Given the description of an element on the screen output the (x, y) to click on. 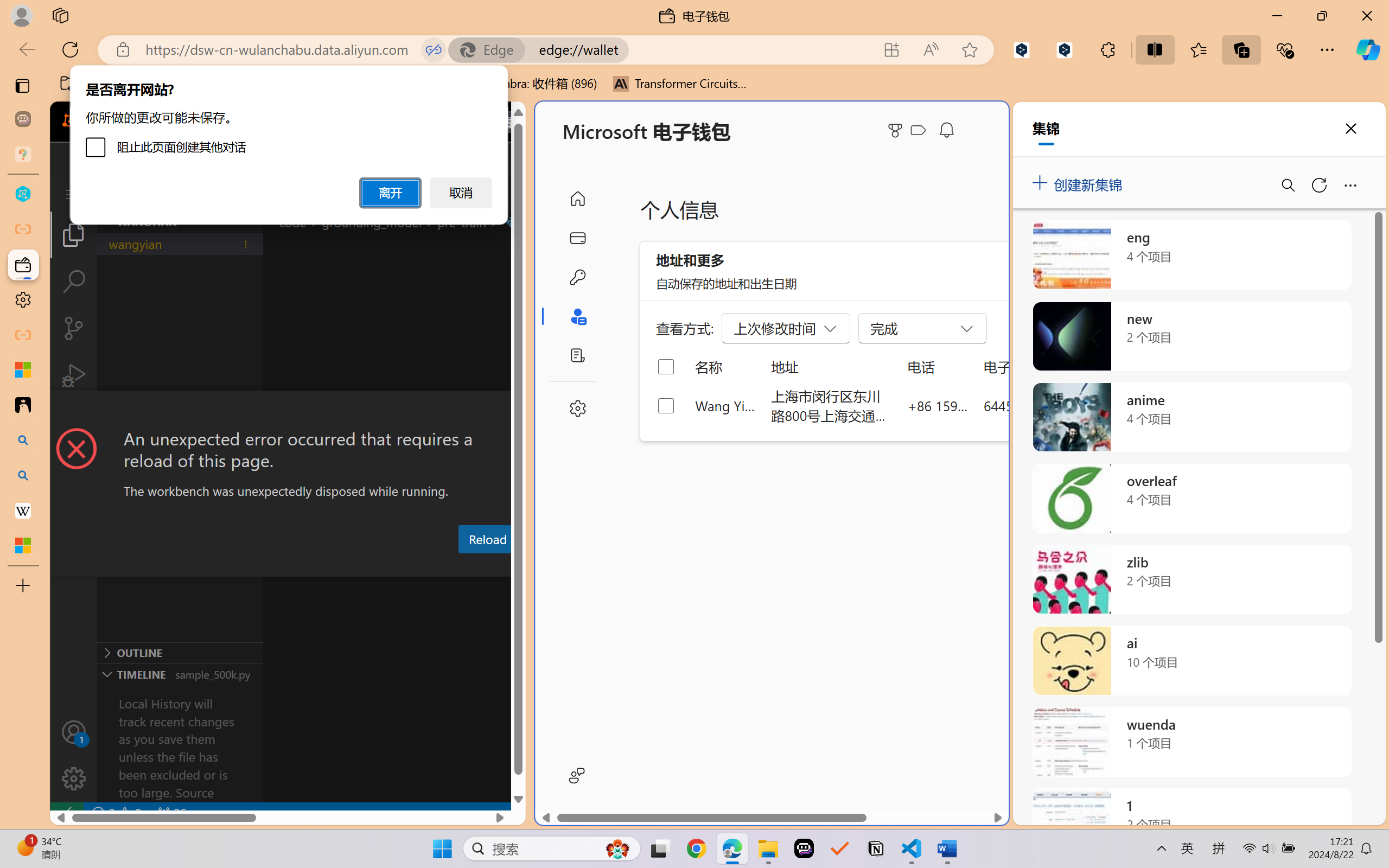
Wang Yian (725, 405)
Manage (73, 778)
Accounts - Sign in requested (73, 732)
remote (66, 812)
644553698@qq.com (1043, 405)
